Given the description of an element on the screen output the (x, y) to click on. 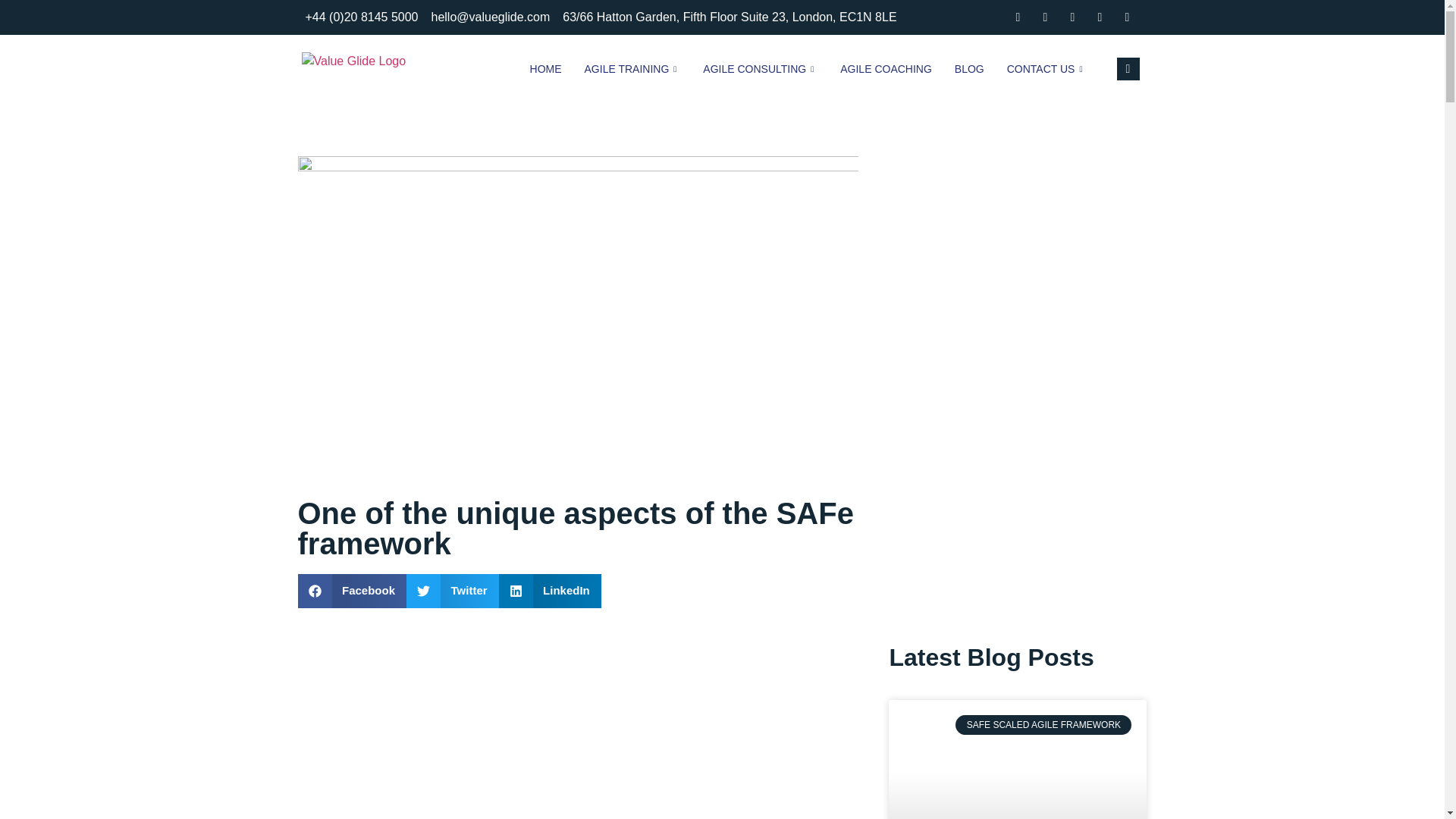
AGILE COACHING (885, 68)
AGILE TRAINING (633, 68)
HOME (545, 68)
AGILE CONSULTING (759, 68)
